Given the description of an element on the screen output the (x, y) to click on. 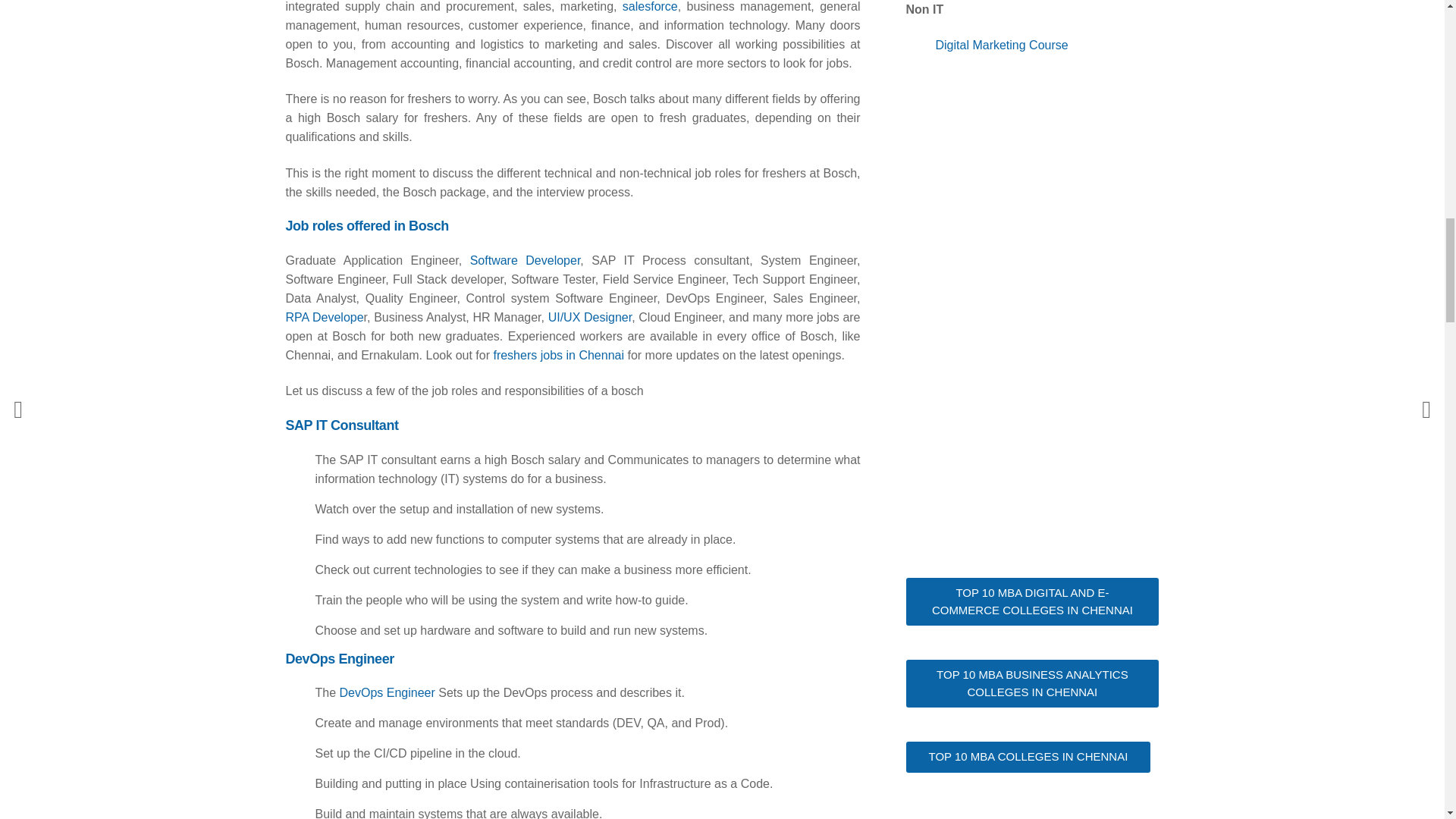
RPA Develope (323, 317)
Software Developer (525, 259)
DevOps Engineer (387, 692)
freshers jobs in Chennai (556, 354)
salesforce (650, 6)
